Given the description of an element on the screen output the (x, y) to click on. 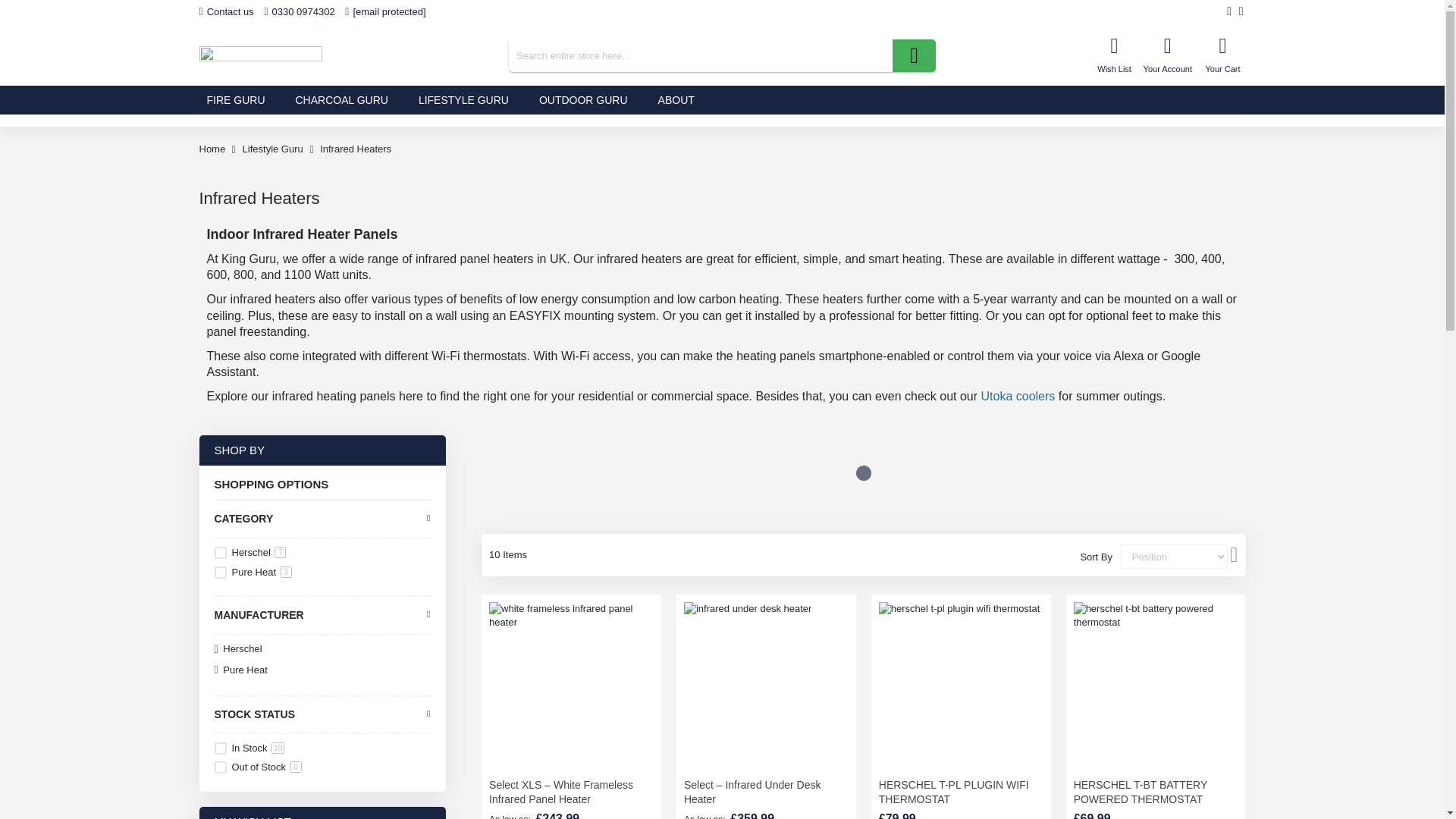
CHARCOAL GURU (342, 99)
Go to Home Page (211, 148)
Contact us (225, 11)
Your Cart (1222, 54)
141 (219, 572)
0330 0974302 (298, 11)
Utoka Coolers (1018, 395)
0 (219, 767)
FIRE GURU (234, 99)
1 (219, 748)
